Given the description of an element on the screen output the (x, y) to click on. 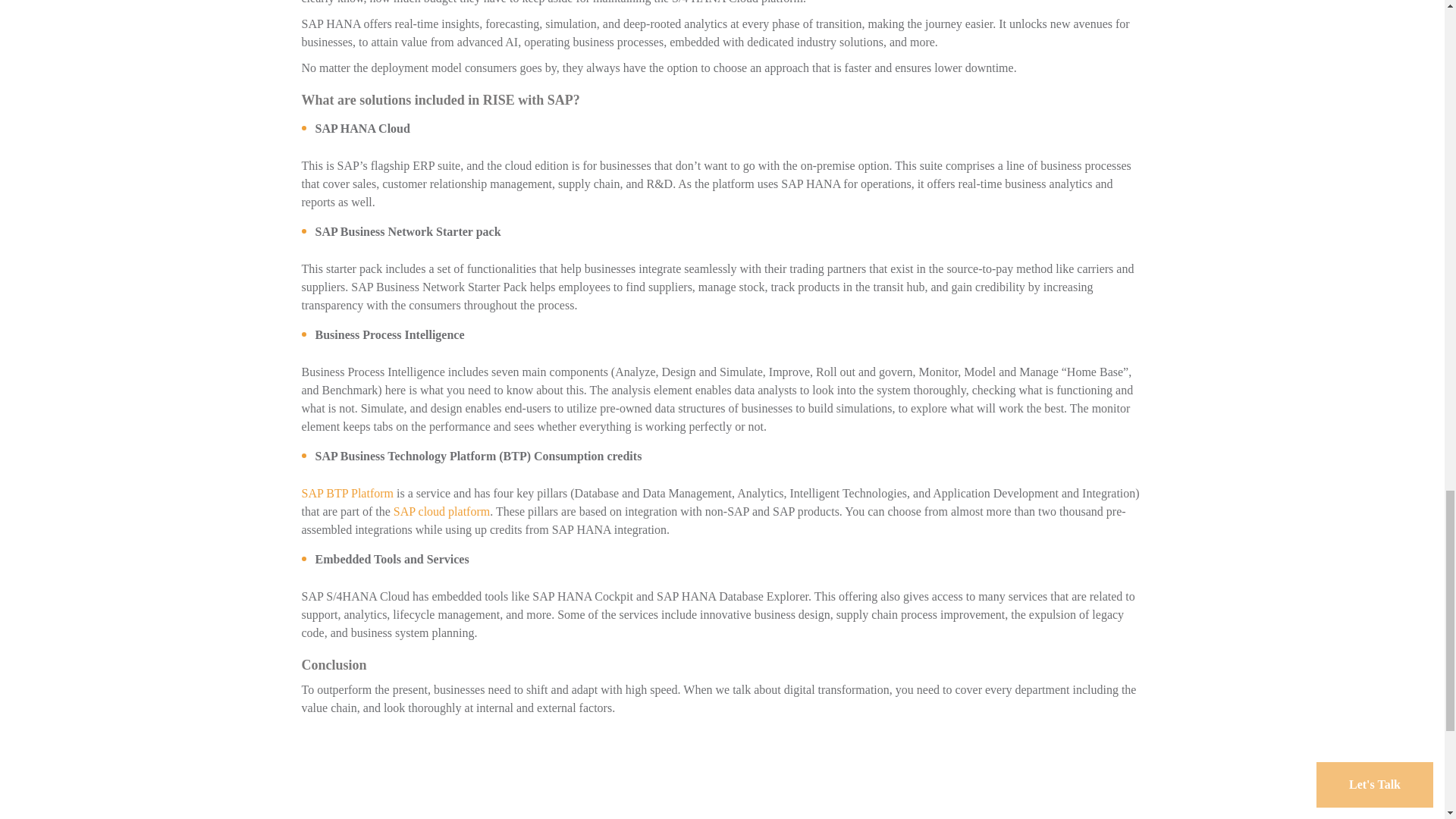
SAP BTP Platform (347, 492)
SAP cloud platform (441, 511)
